Given the description of an element on the screen output the (x, y) to click on. 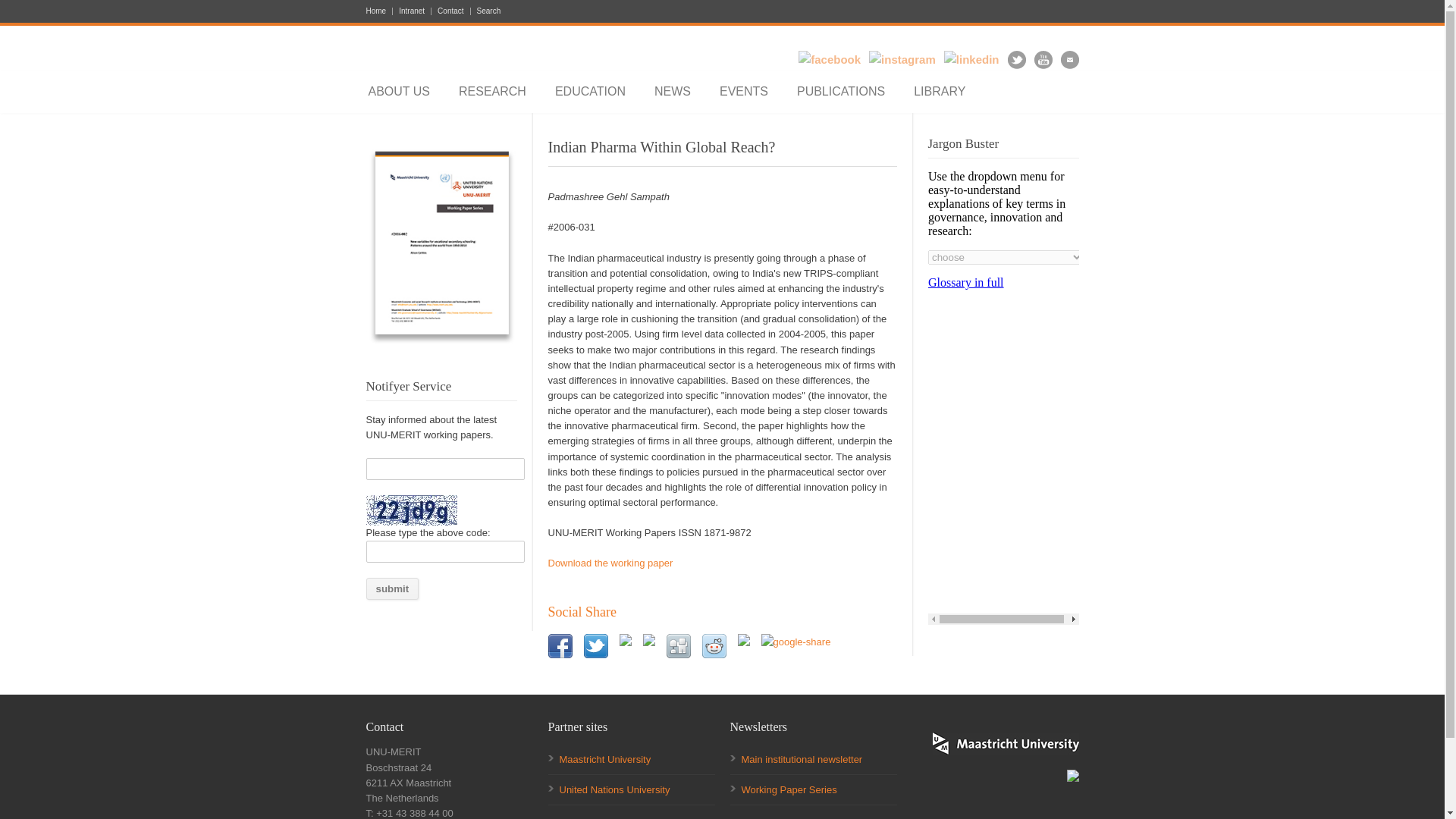
RESEARCH (492, 91)
Contact (450, 11)
ABOUT US (400, 91)
Intranet (411, 11)
EDUCATION (590, 91)
Search (485, 11)
Home (379, 11)
submit (392, 588)
